Given the description of an element on the screen output the (x, y) to click on. 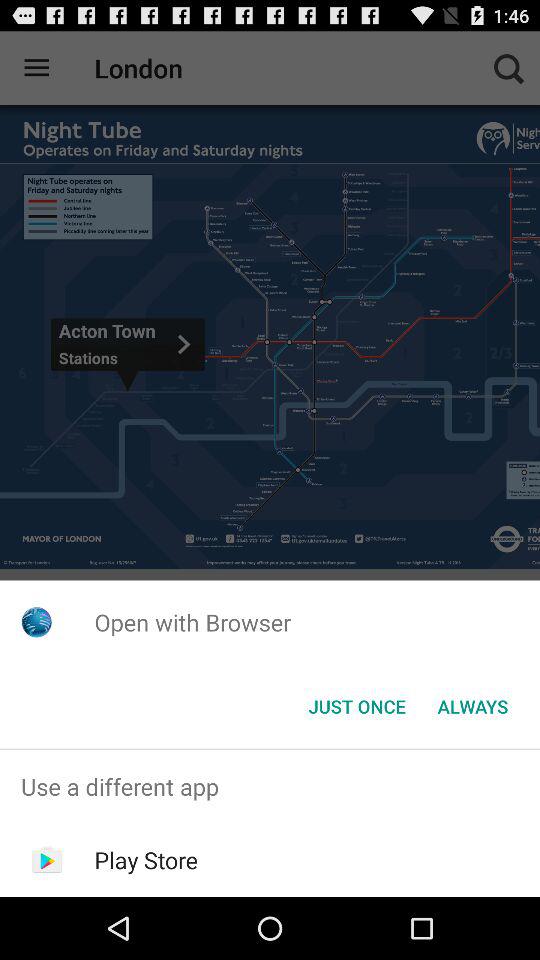
turn on the app below the open with browser item (472, 706)
